Given the description of an element on the screen output the (x, y) to click on. 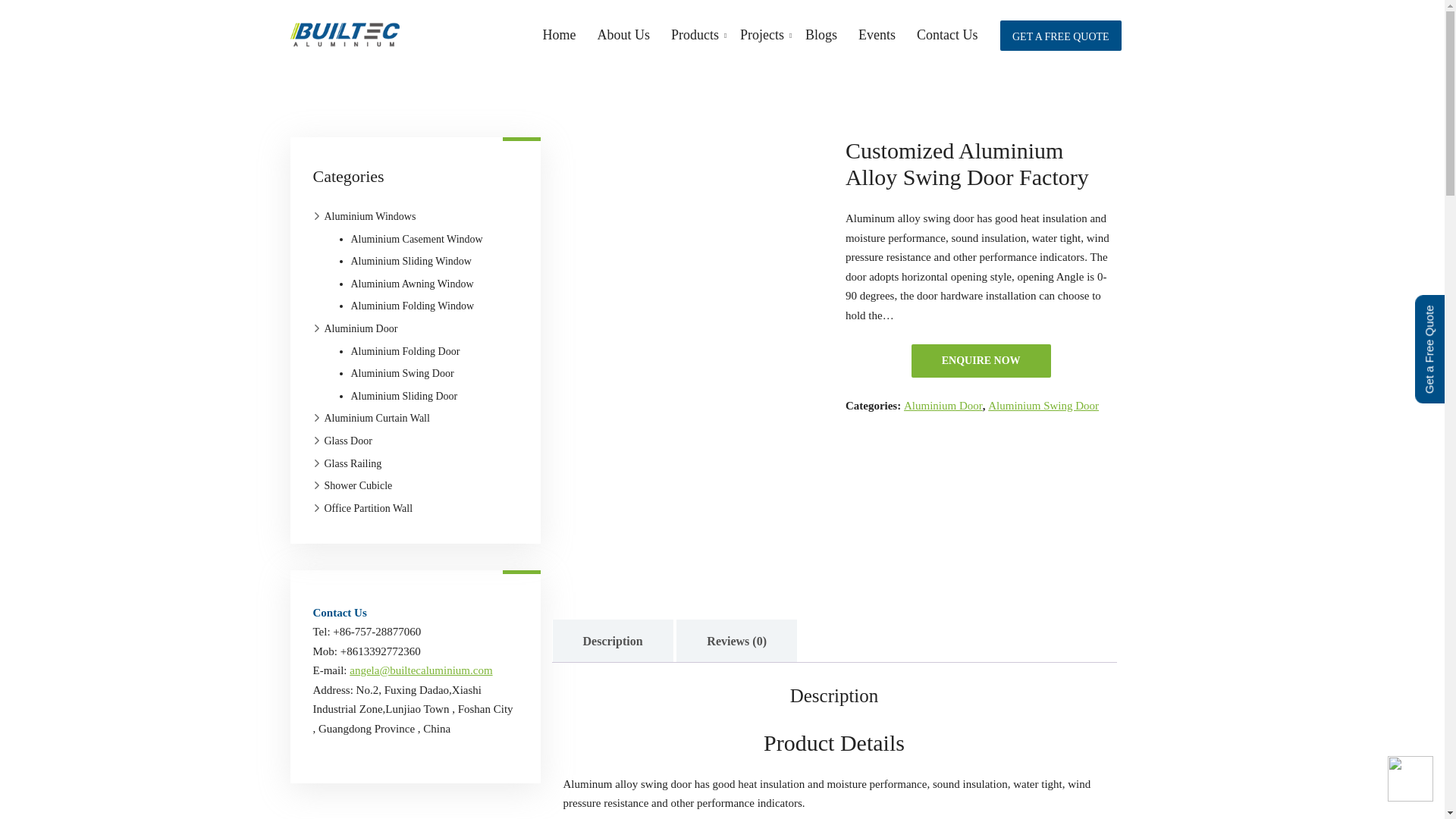
Aluminium Folding Window (413, 305)
Glass Railing (348, 463)
Aluminium Folding Door (405, 351)
Aluminium Awning Window (413, 283)
Shower Cubicle (353, 486)
Aluminium Swing Door (402, 373)
Projects (761, 41)
Aluminium Curtain Wall (371, 418)
Aluminium Sliding Window (411, 261)
GET A FREE QUOTE (1059, 35)
